Given the description of an element on the screen output the (x, y) to click on. 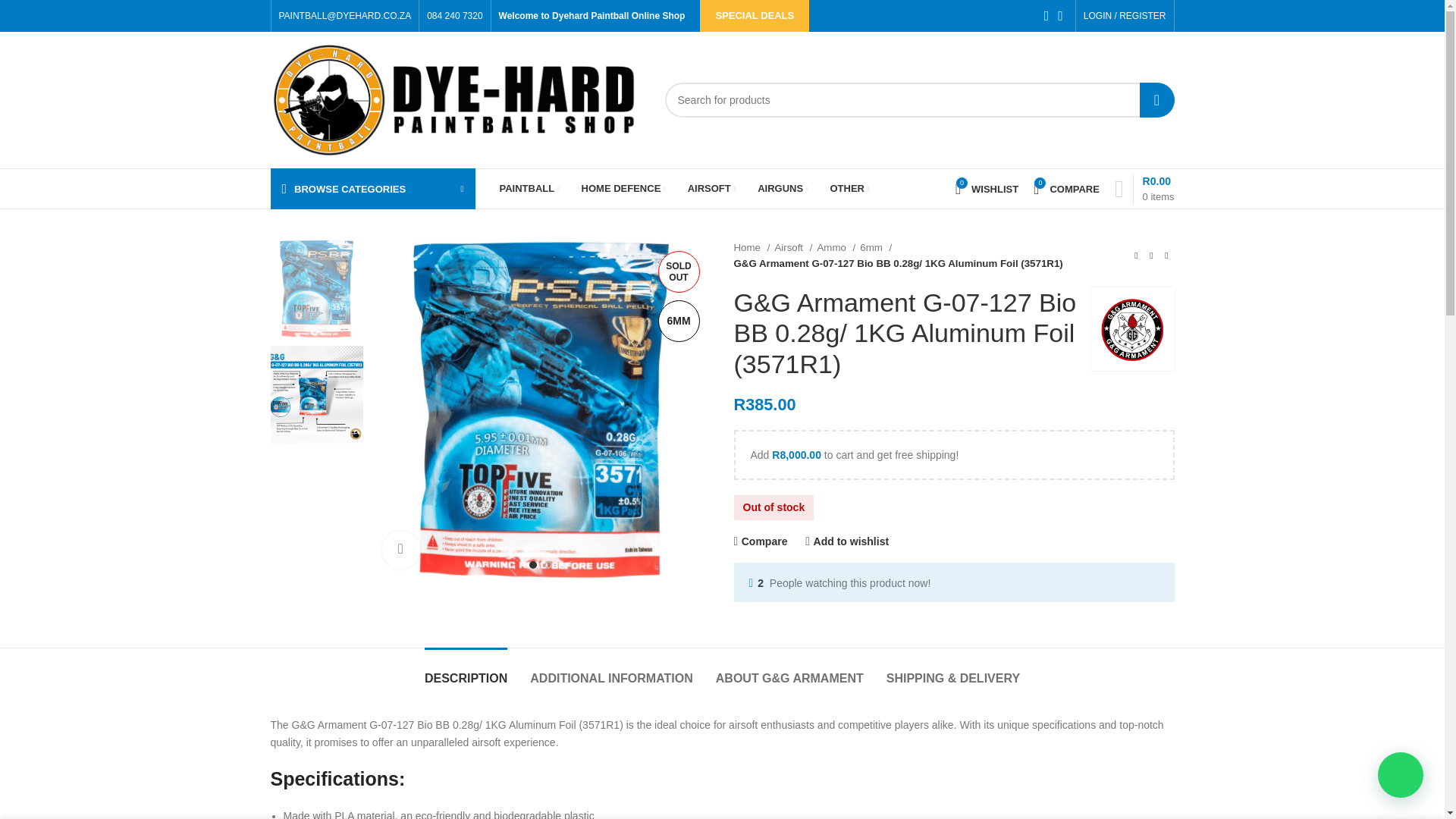
My account (1124, 15)
My Wishlist (986, 188)
084 240 7320 (453, 15)
Shopping cart (1144, 187)
Compare products (1066, 188)
SEARCH (1155, 99)
Search for products (918, 99)
SPECIAL DEALS (754, 15)
